Given the description of an element on the screen output the (x, y) to click on. 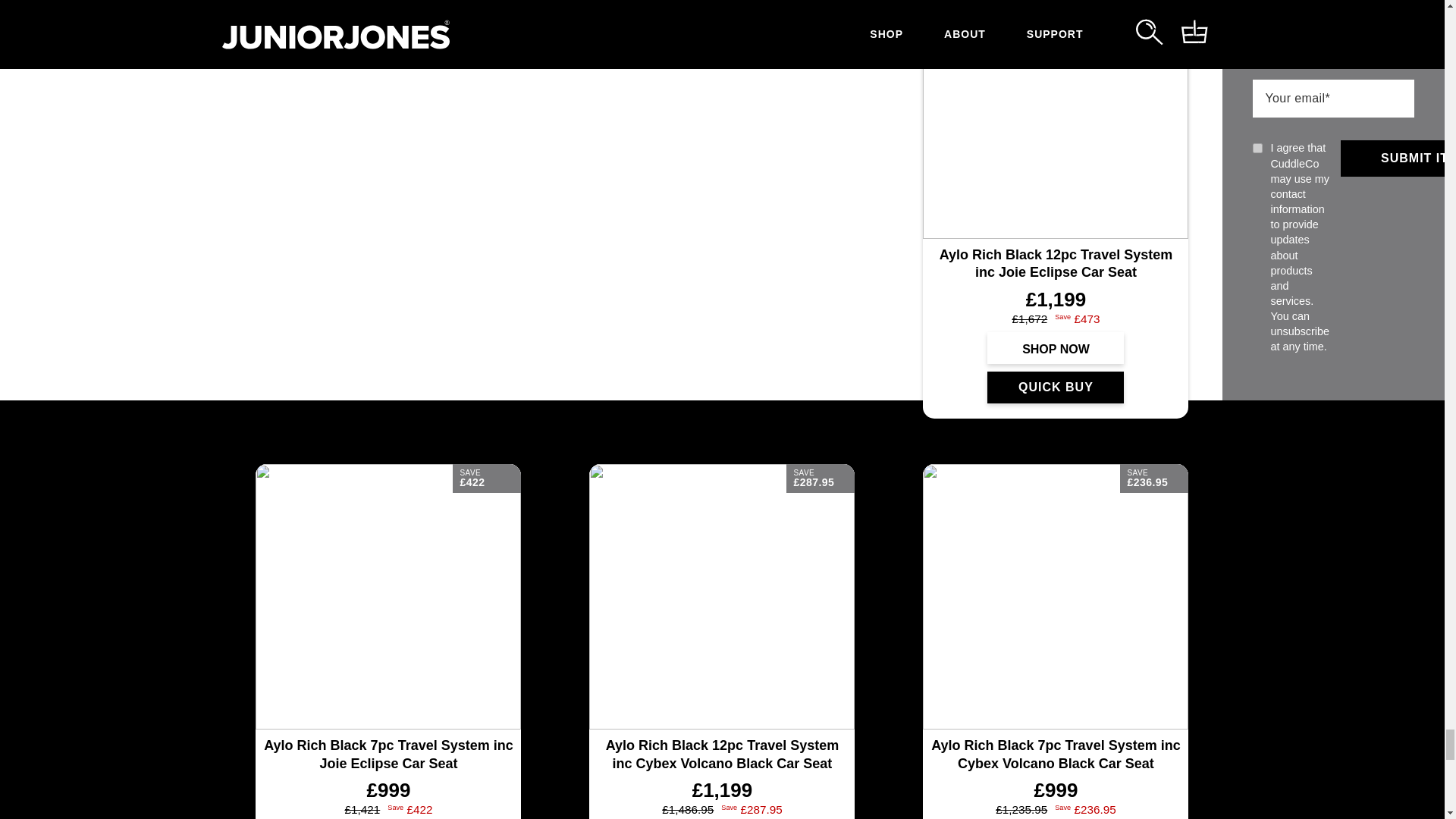
Quick buy (1055, 387)
on (1257, 148)
